Given the description of an element on the screen output the (x, y) to click on. 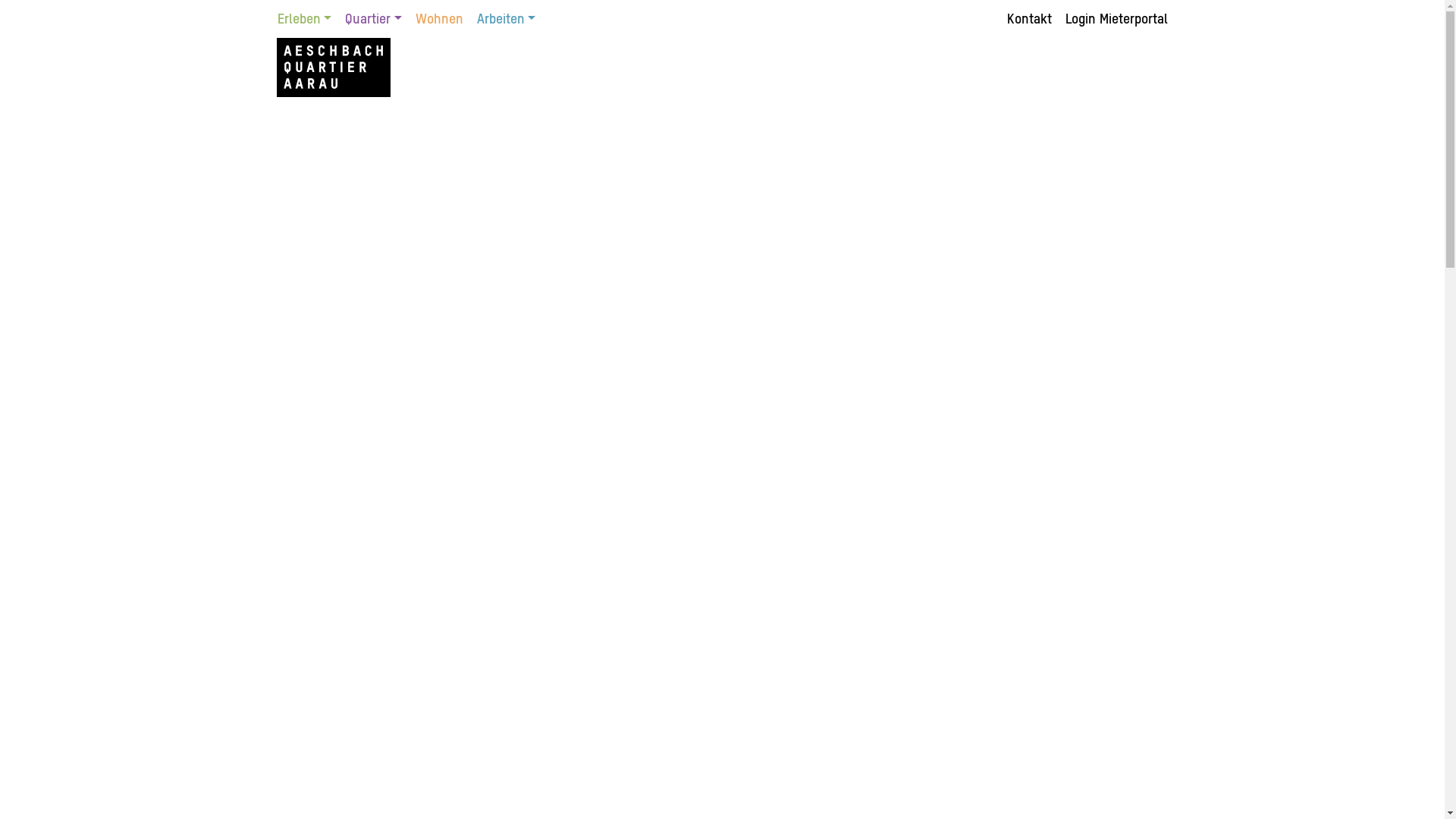
Login Mieterportal Element type: text (1113, 19)
Arbeiten Element type: text (503, 19)
Kontakt Element type: text (1031, 19)
Erleben Element type: text (307, 19)
Startseite Element type: hover (332, 67)
Wohnen Element type: text (439, 19)
Quartier Element type: text (373, 19)
